Given the description of an element on the screen output the (x, y) to click on. 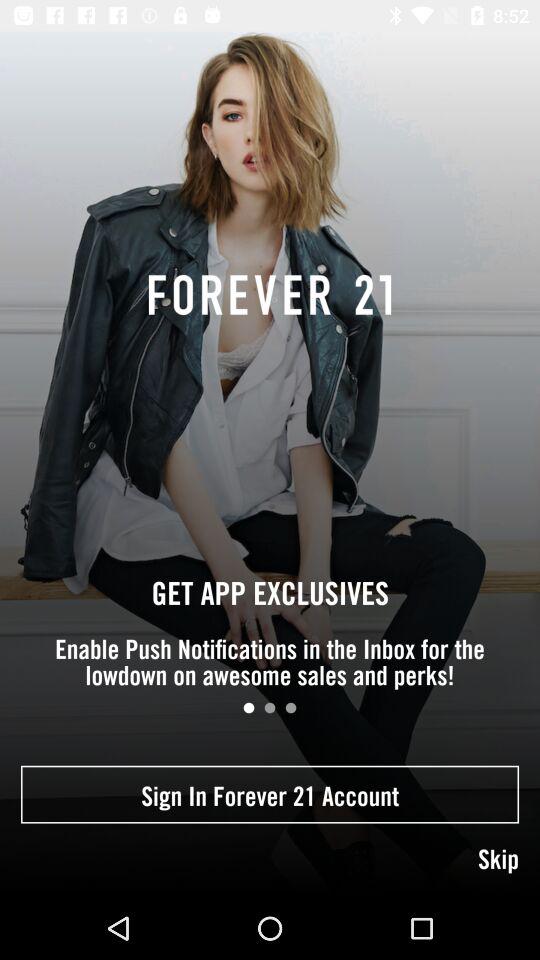
swipe to skip icon (270, 860)
